Given the description of an element on the screen output the (x, y) to click on. 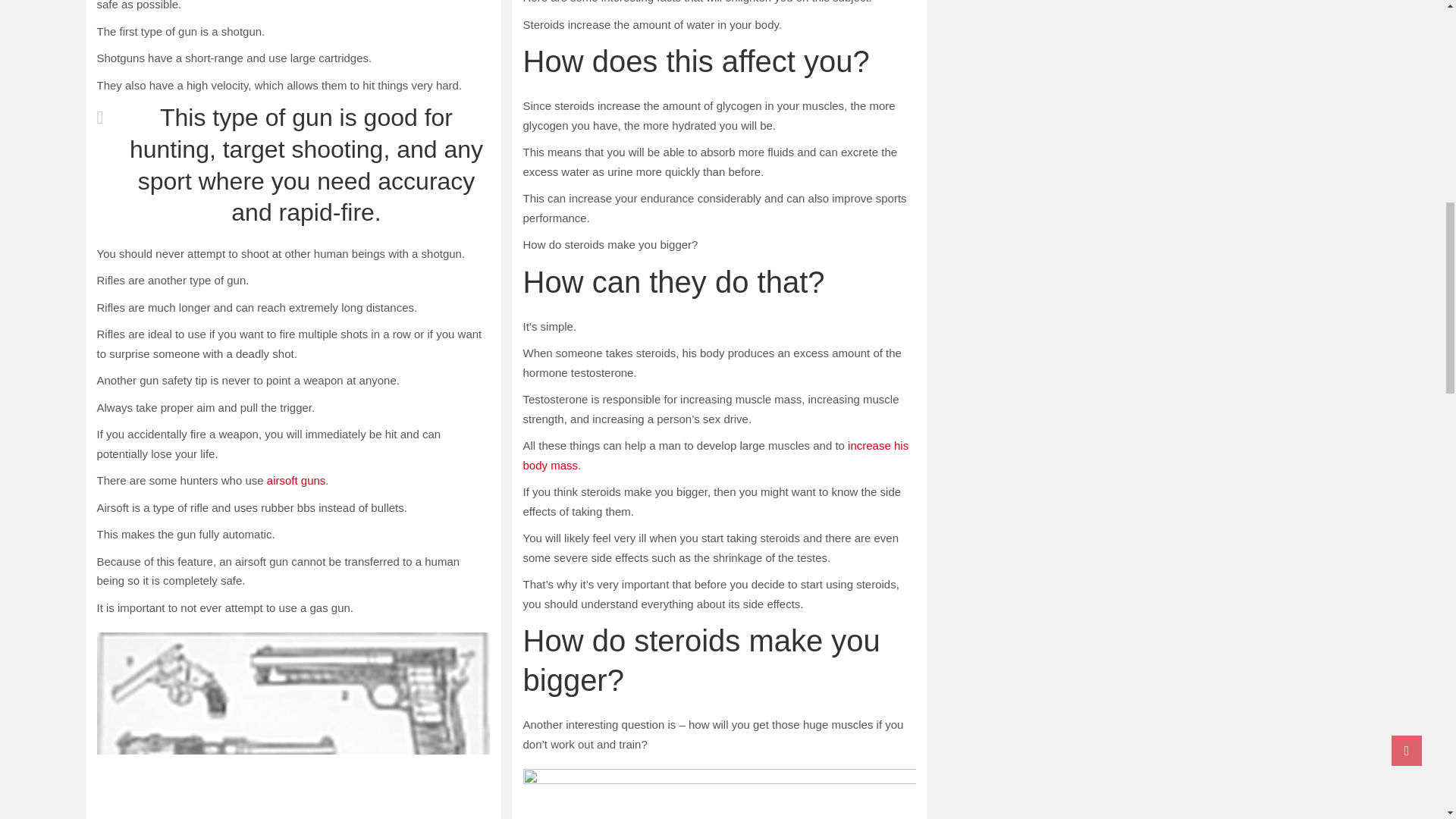
airsoft guns (296, 480)
increase his body mass (715, 454)
